Given the description of an element on the screen output the (x, y) to click on. 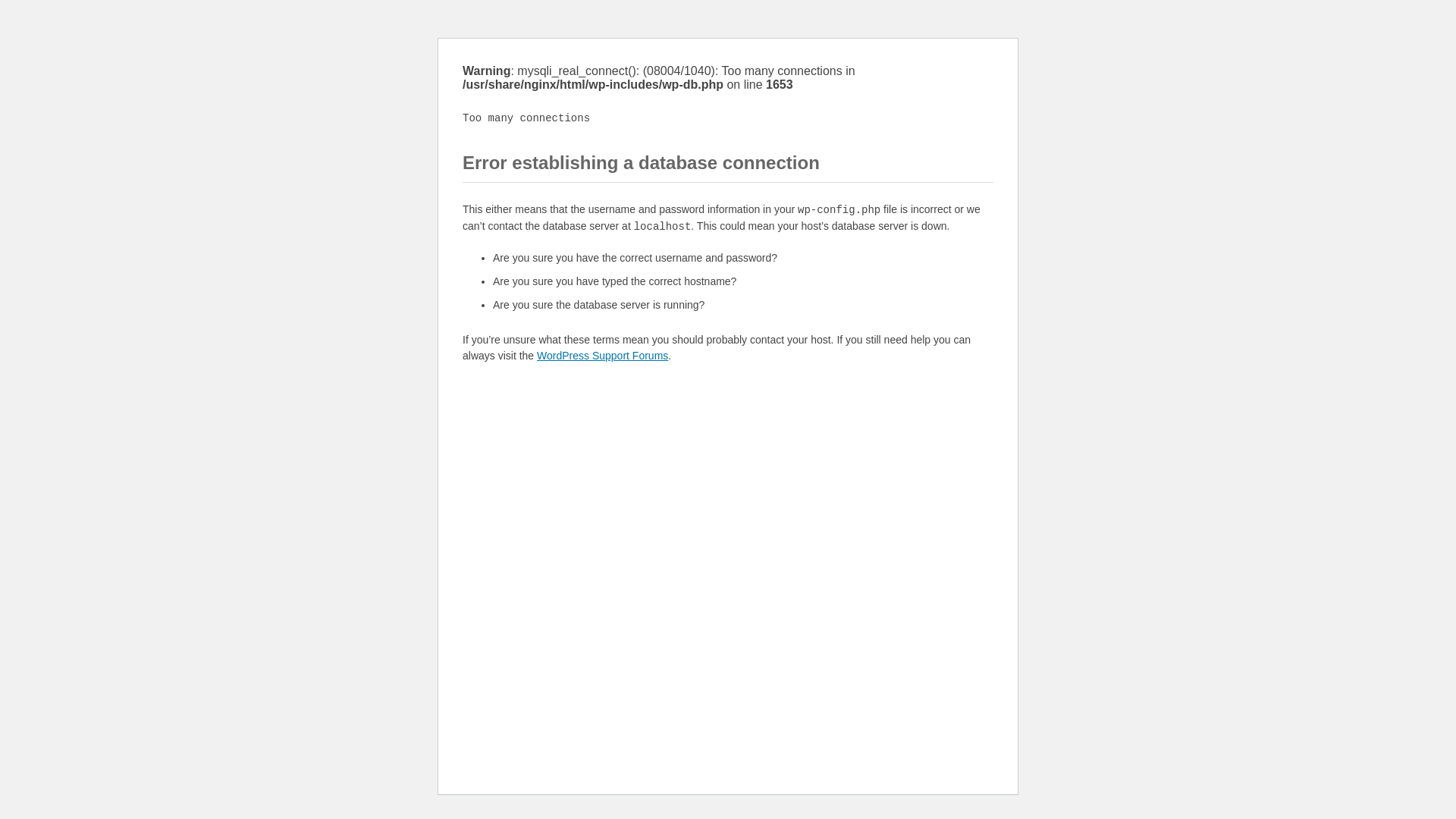
WordPress Support Forums (602, 355)
